Given the description of an element on the screen output the (x, y) to click on. 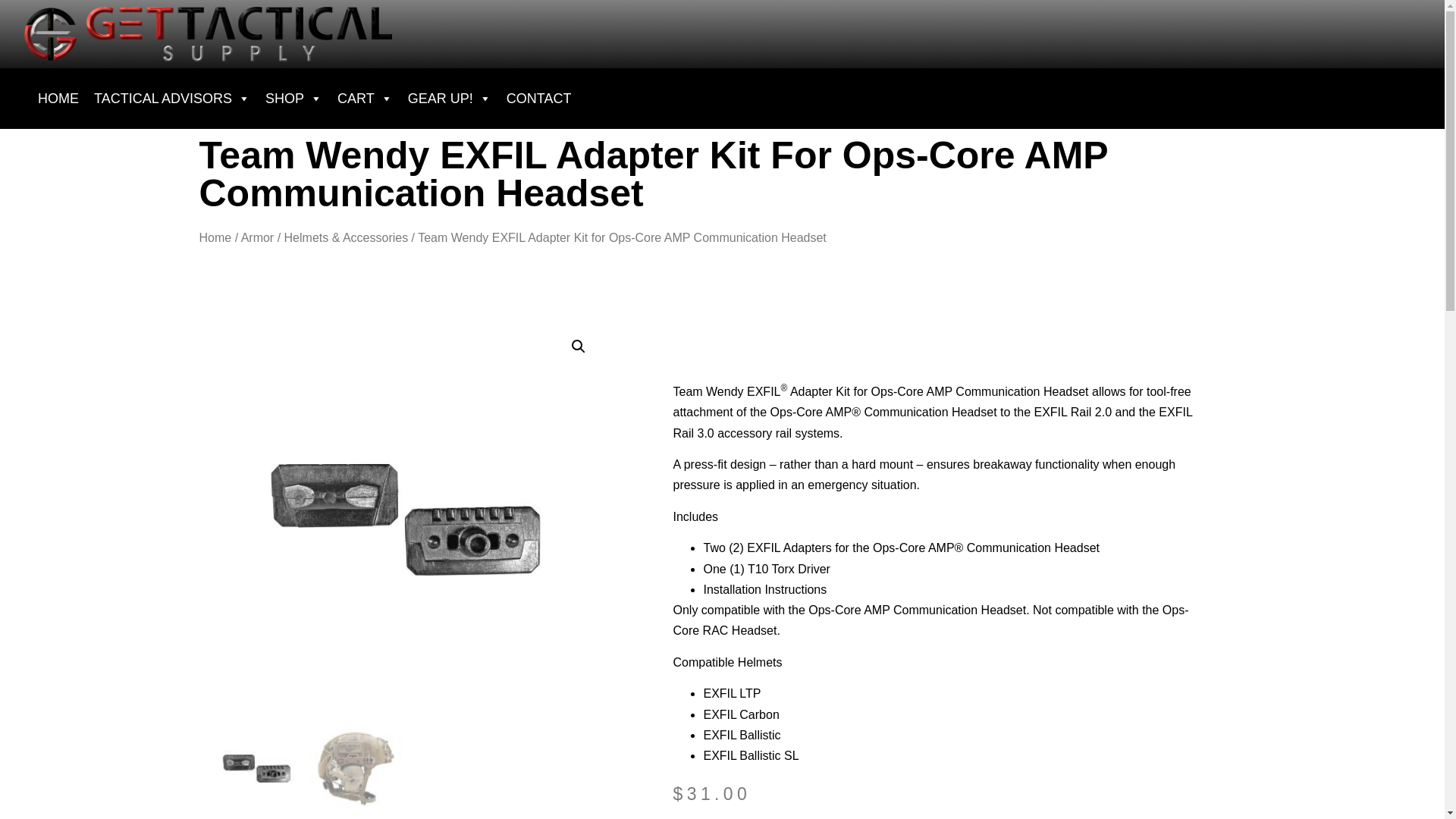
TACTICAL ADVISORS (171, 98)
HOME (57, 98)
SHOP (293, 98)
